Given the description of an element on the screen output the (x, y) to click on. 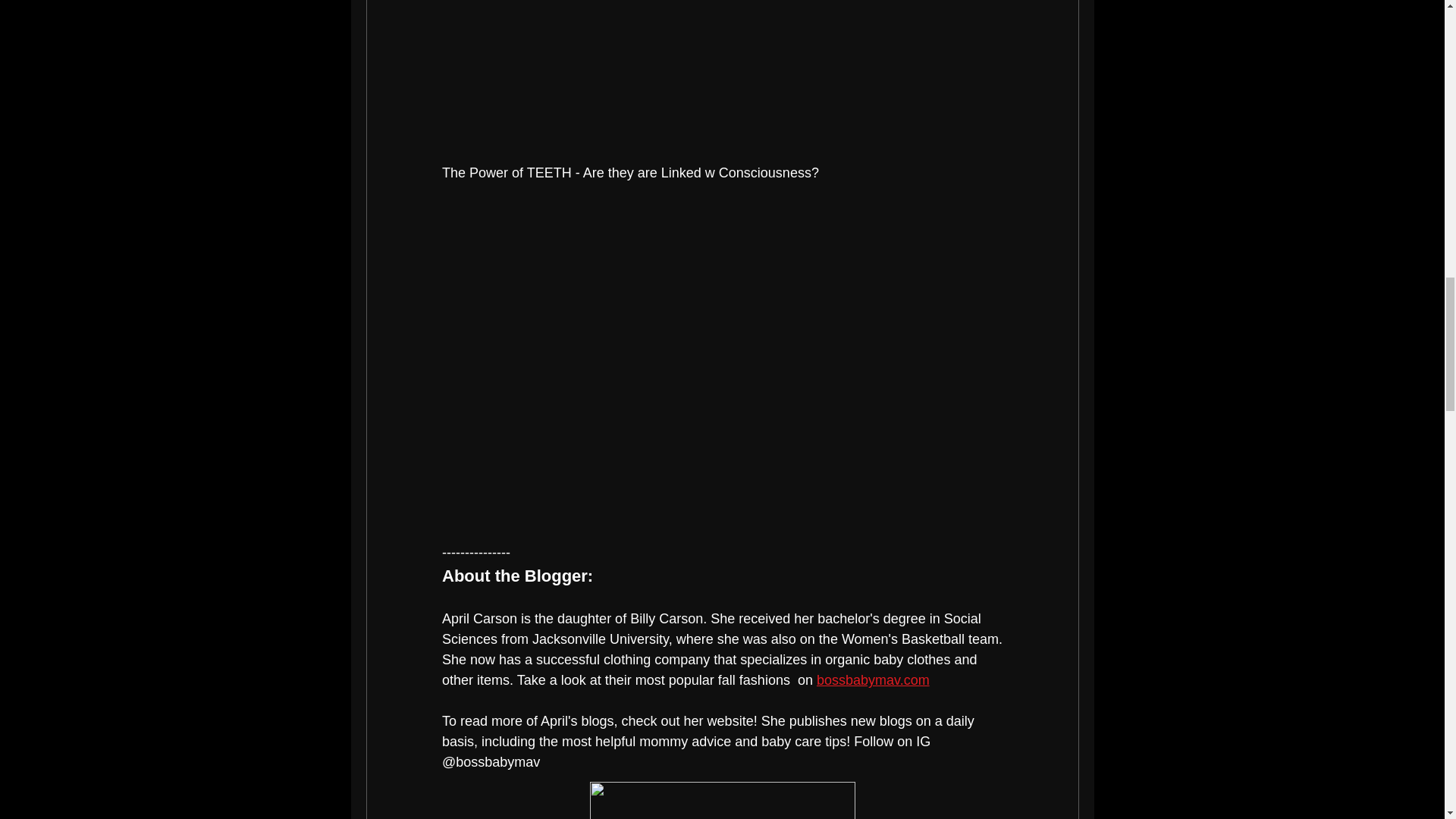
bossbabymav.com (871, 679)
